Given the description of an element on the screen output the (x, y) to click on. 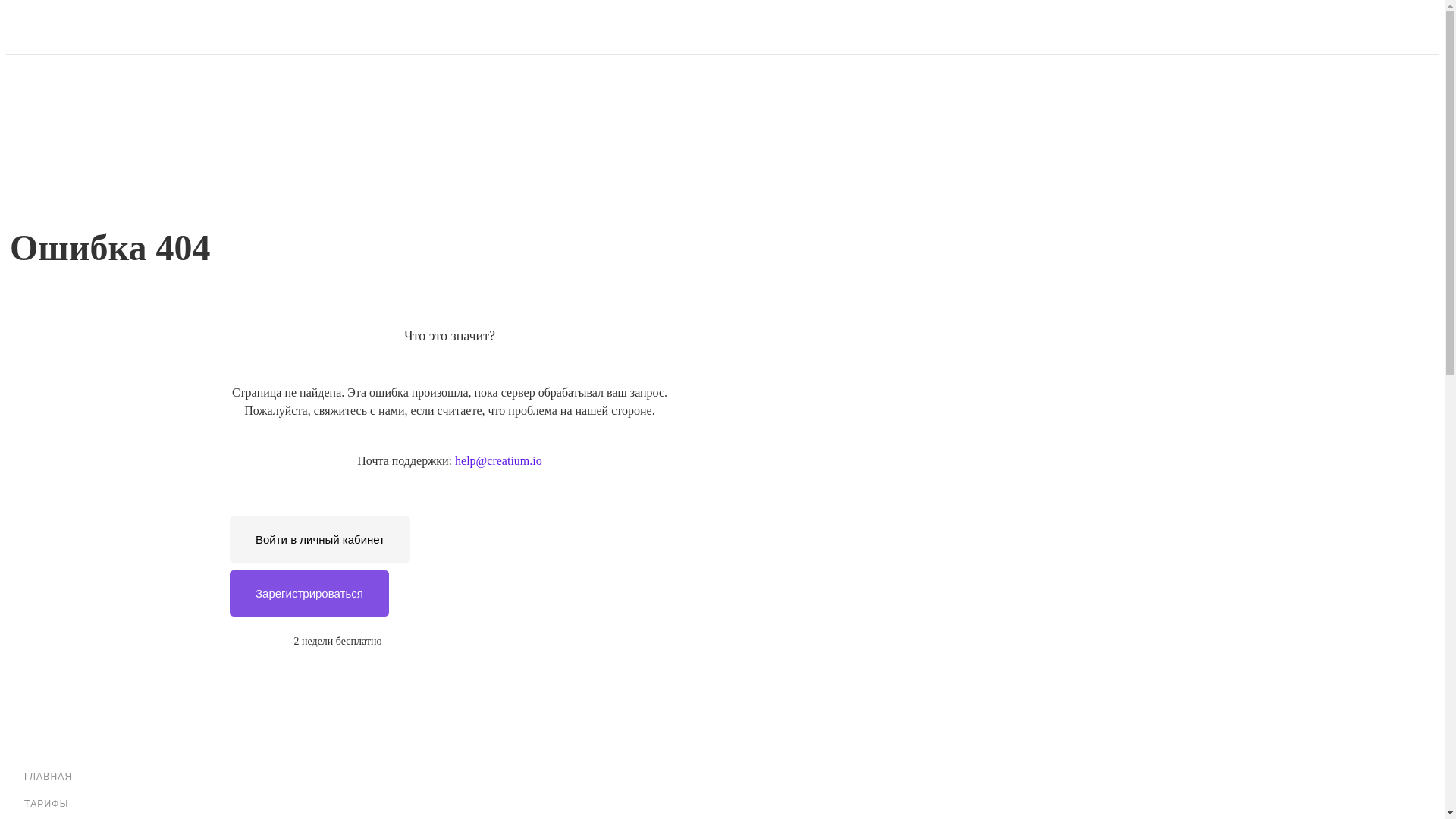
help@creatium.io Element type: text (498, 460)
